Given the description of an element on the screen output the (x, y) to click on. 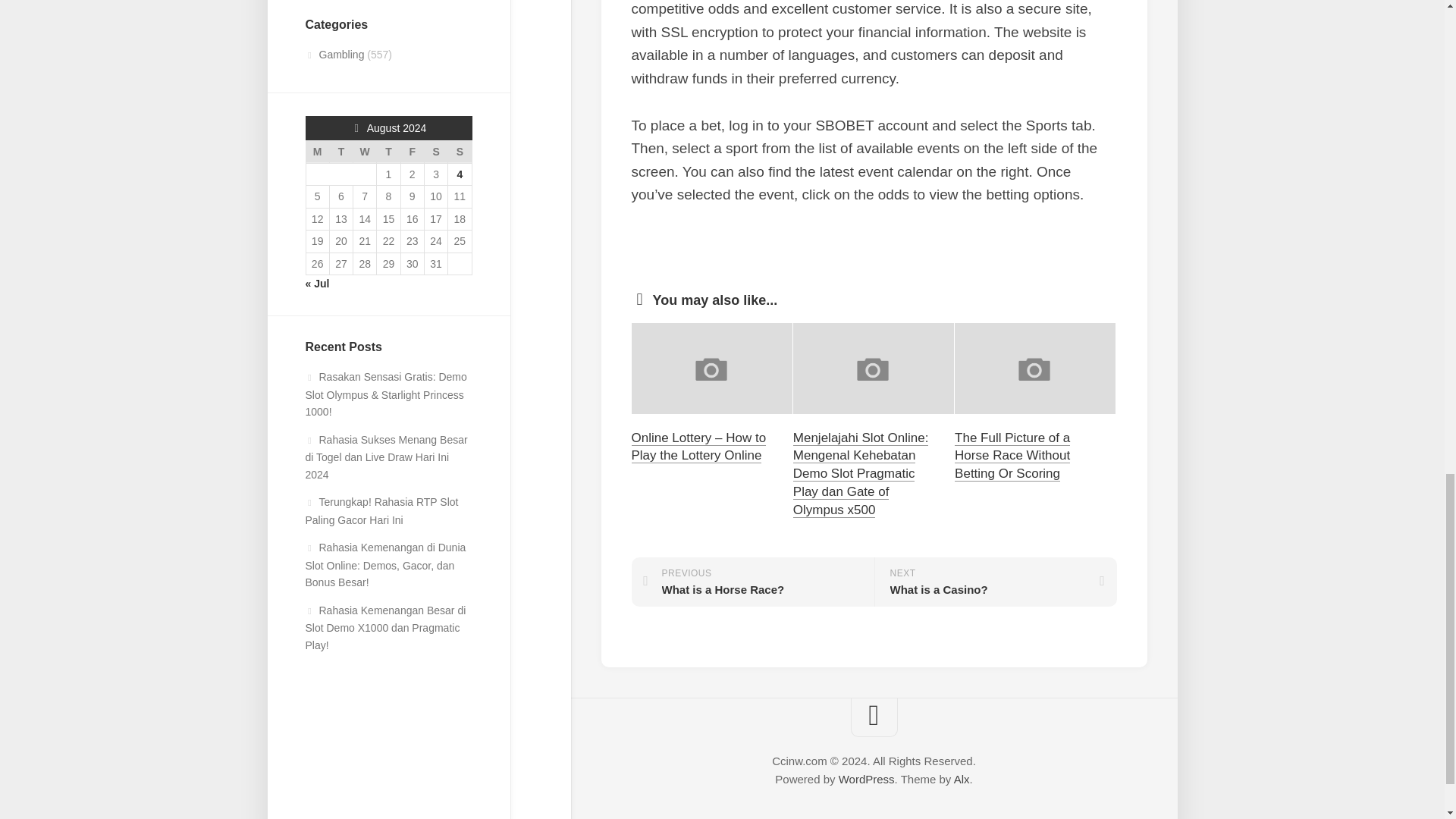
Saturday (434, 151)
Tuesday (340, 151)
Wednesday (365, 151)
Friday (411, 151)
Terungkap! Rahasia RTP Slot Paling Gacor Hari Ini (381, 511)
Gambling (334, 54)
Sunday (459, 151)
Thursday (388, 151)
Monday (317, 151)
